Given the description of an element on the screen output the (x, y) to click on. 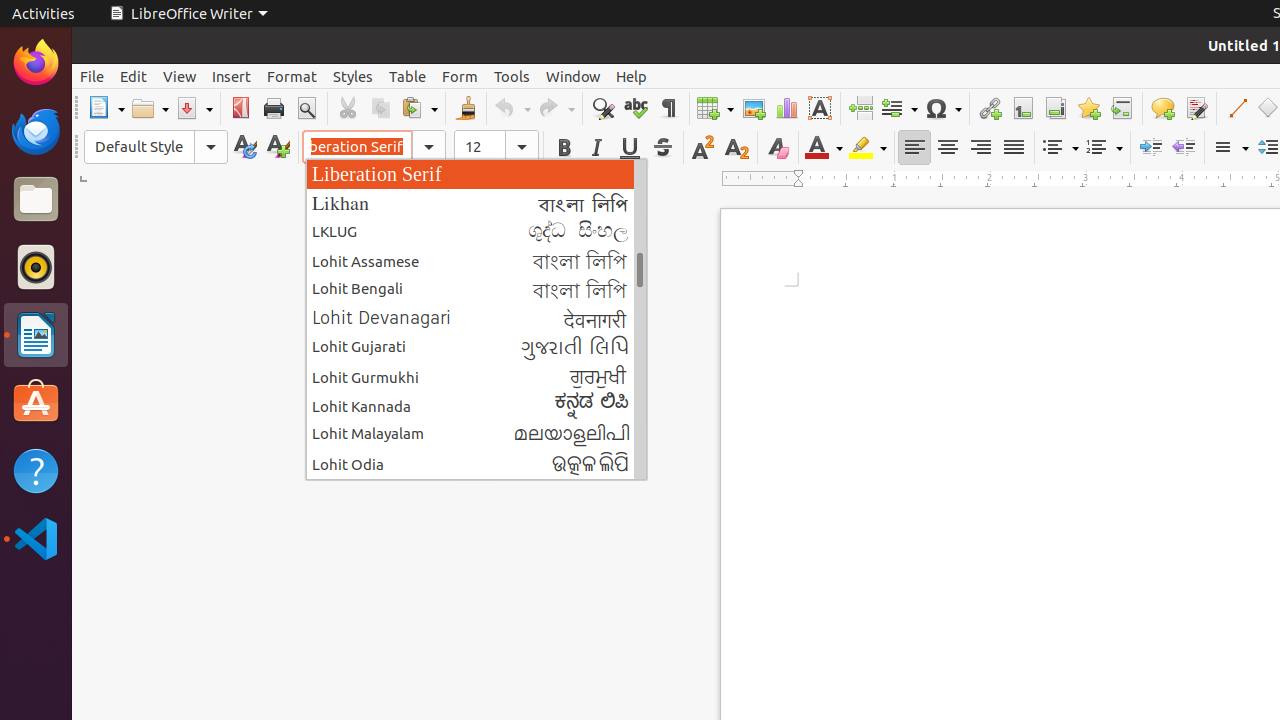
Line Element type: push-button (1236, 108)
Page Break Element type: push-button (860, 108)
Paragraph Style Element type: combo-box (156, 147)
Numbering Element type: push-button (1104, 147)
Bookmark Element type: push-button (1088, 108)
